Given the description of an element on the screen output the (x, y) to click on. 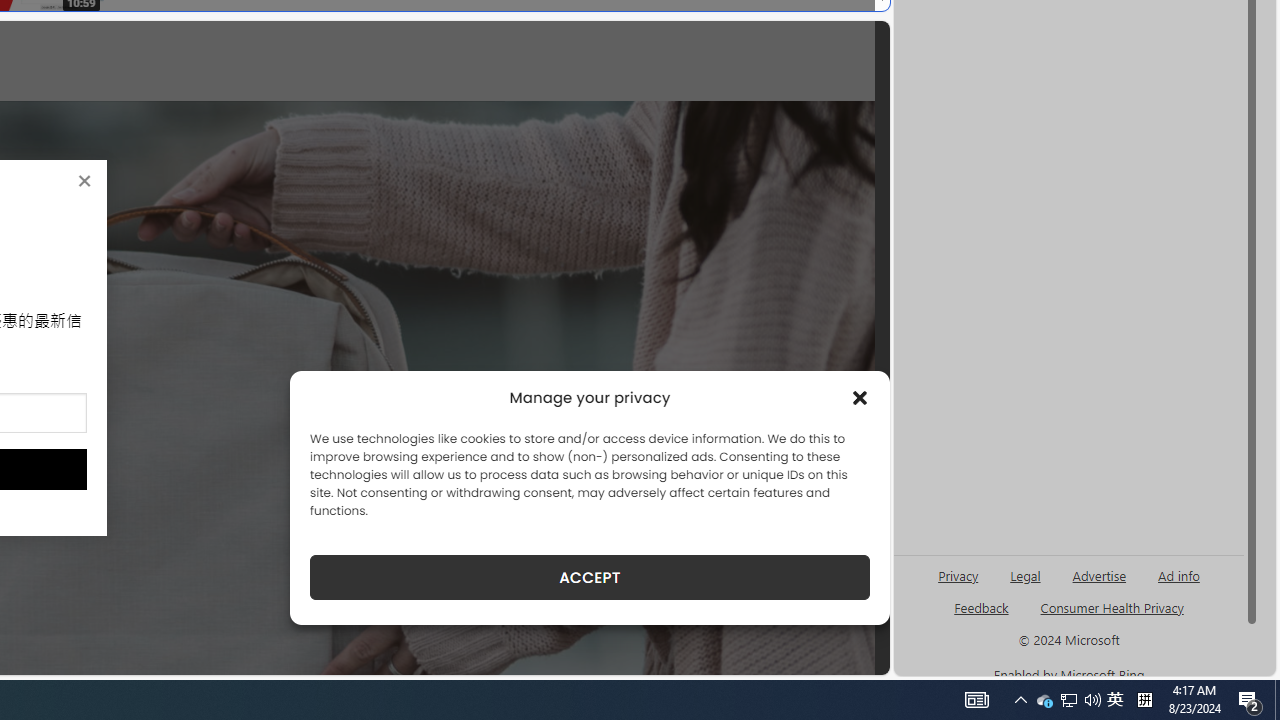
AutomationID: genId96 (981, 615)
AutomationID: sb_feedback (980, 607)
Class: cmplz-close (859, 398)
ACCEPT (589, 577)
